Given the description of an element on the screen output the (x, y) to click on. 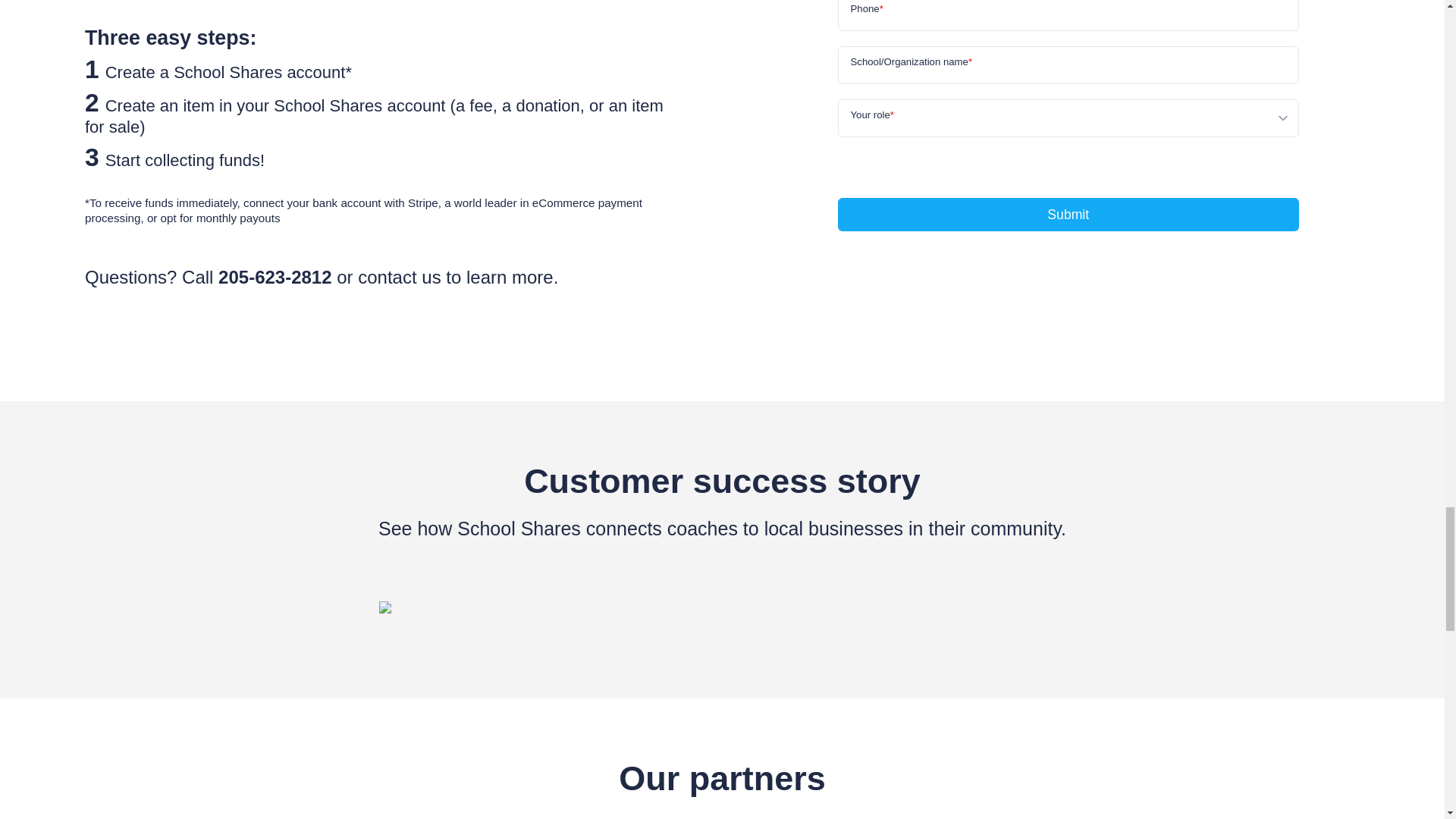
205-623-2812 (274, 276)
Submit (1067, 214)
Submit (1067, 214)
